Given the description of an element on the screen output the (x, y) to click on. 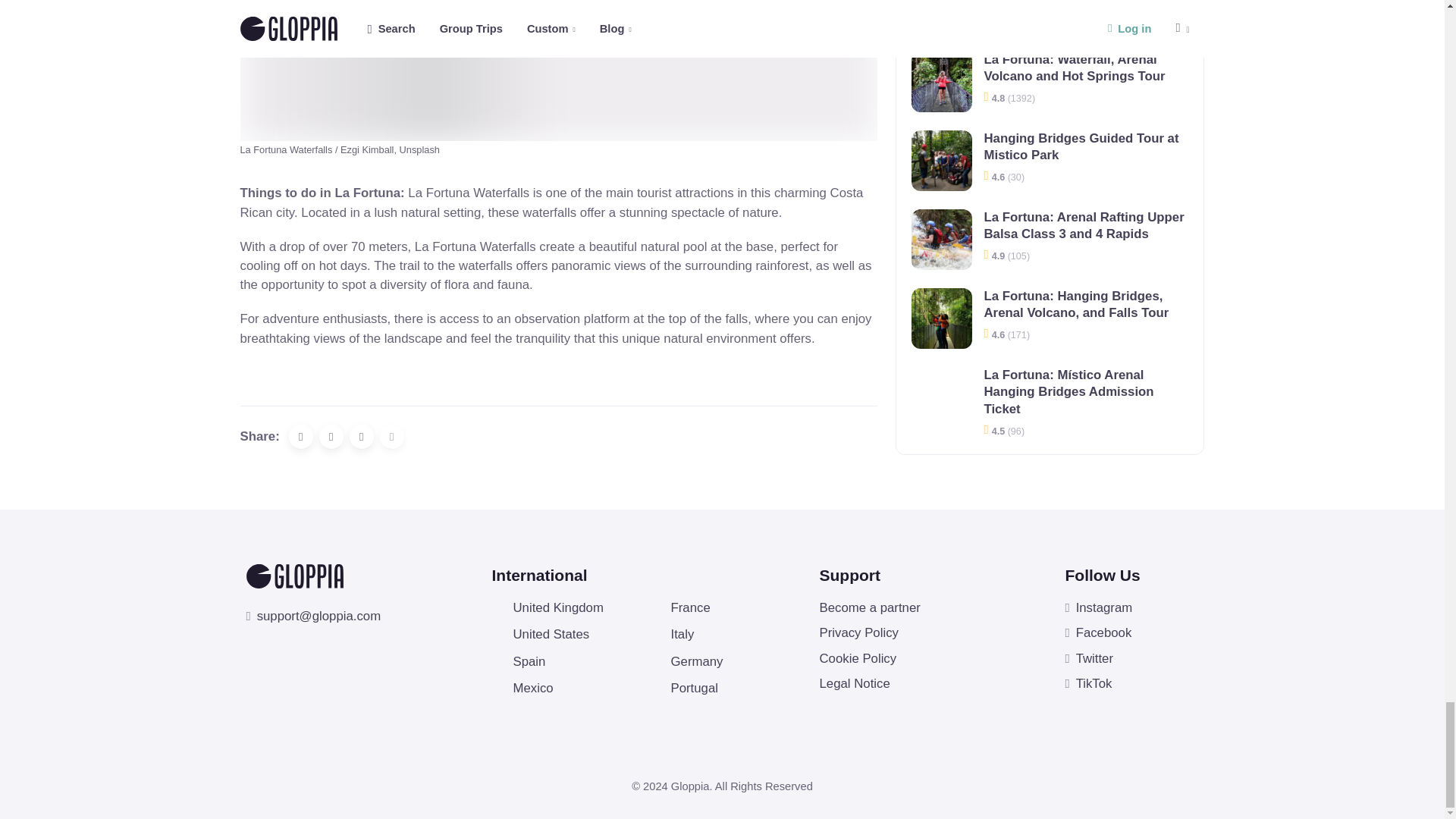
Gloppia (294, 576)
water falls in the middle of green plants (558, 70)
